Given the description of an element on the screen output the (x, y) to click on. 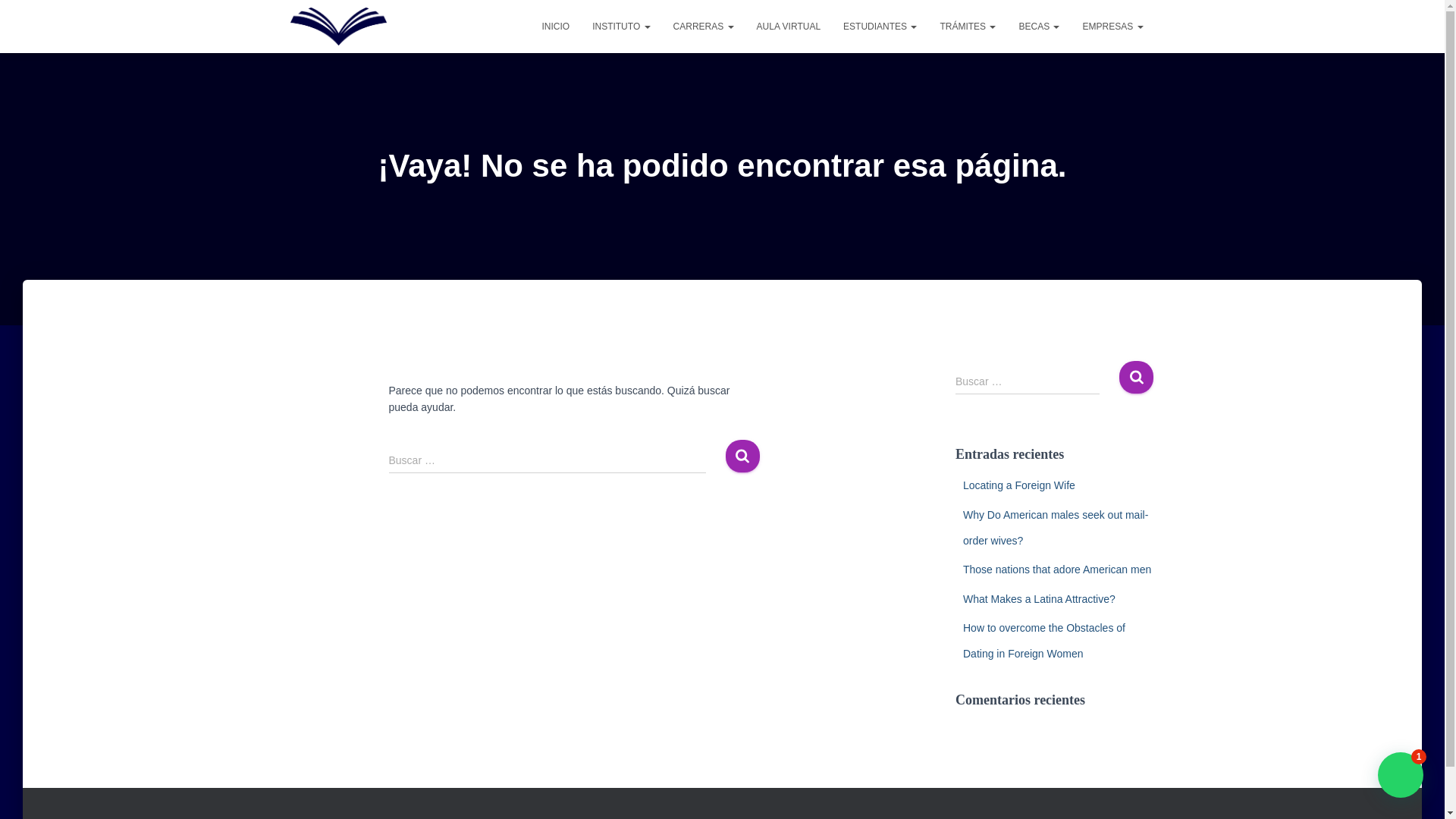
INICIO (554, 26)
Instituto (620, 26)
Buscar (1136, 377)
ESTUDIANTES (879, 26)
Aula virtual (788, 26)
Carreras (703, 26)
Buscar (741, 455)
Buscar (1136, 377)
Why Do American males seek out mail-order wives? (1055, 527)
AULA VIRTUAL (788, 26)
Buscar (741, 455)
CARRERAS (703, 26)
Buscar (1136, 377)
Locating a Foreign Wife (1018, 485)
Estudiantes (879, 26)
